Given the description of an element on the screen output the (x, y) to click on. 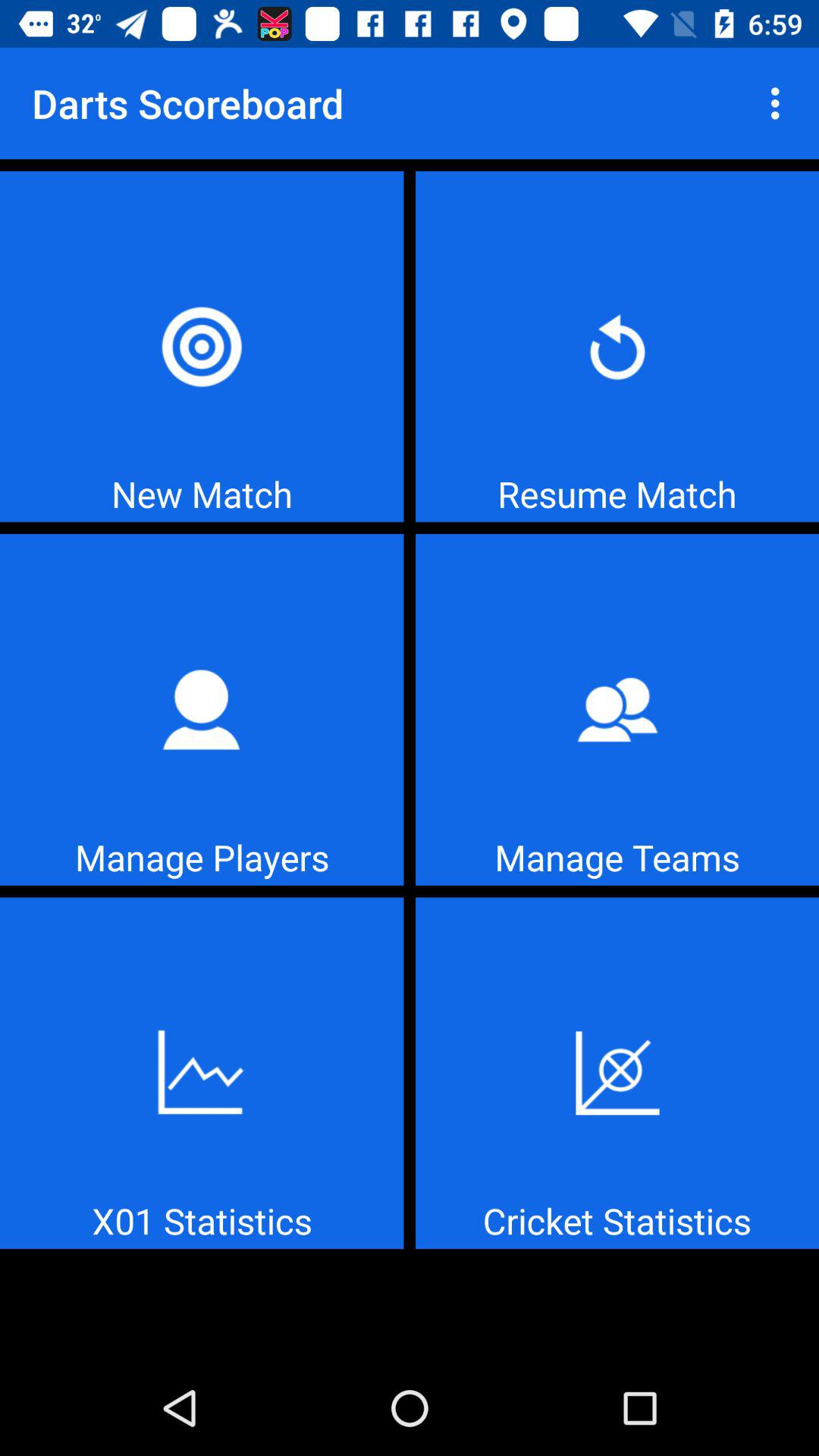
view cricket statistics (617, 1072)
